Given the description of an element on the screen output the (x, y) to click on. 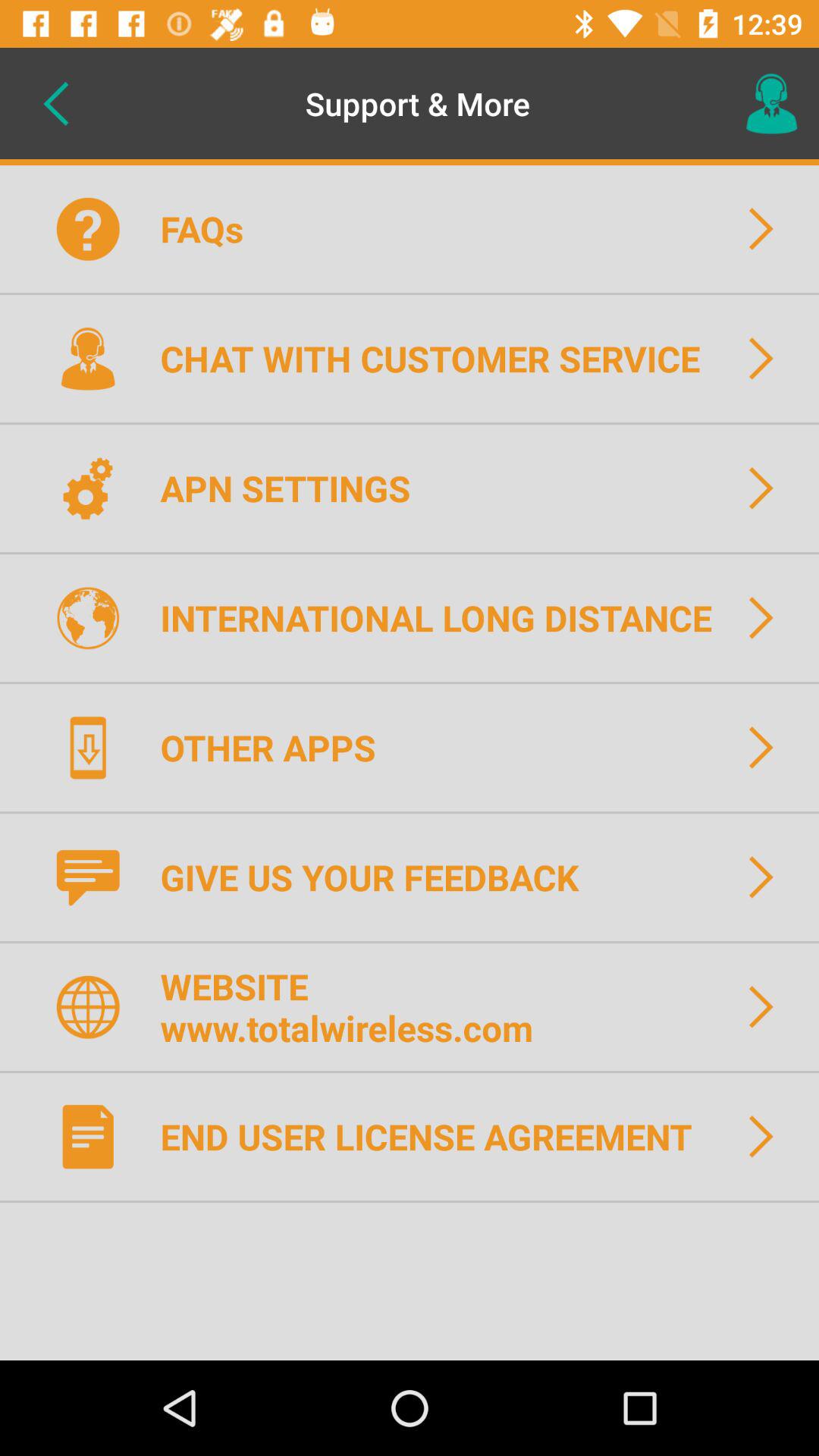
choose item below website www totalwireless (435, 1136)
